Given the description of an element on the screen output the (x, y) to click on. 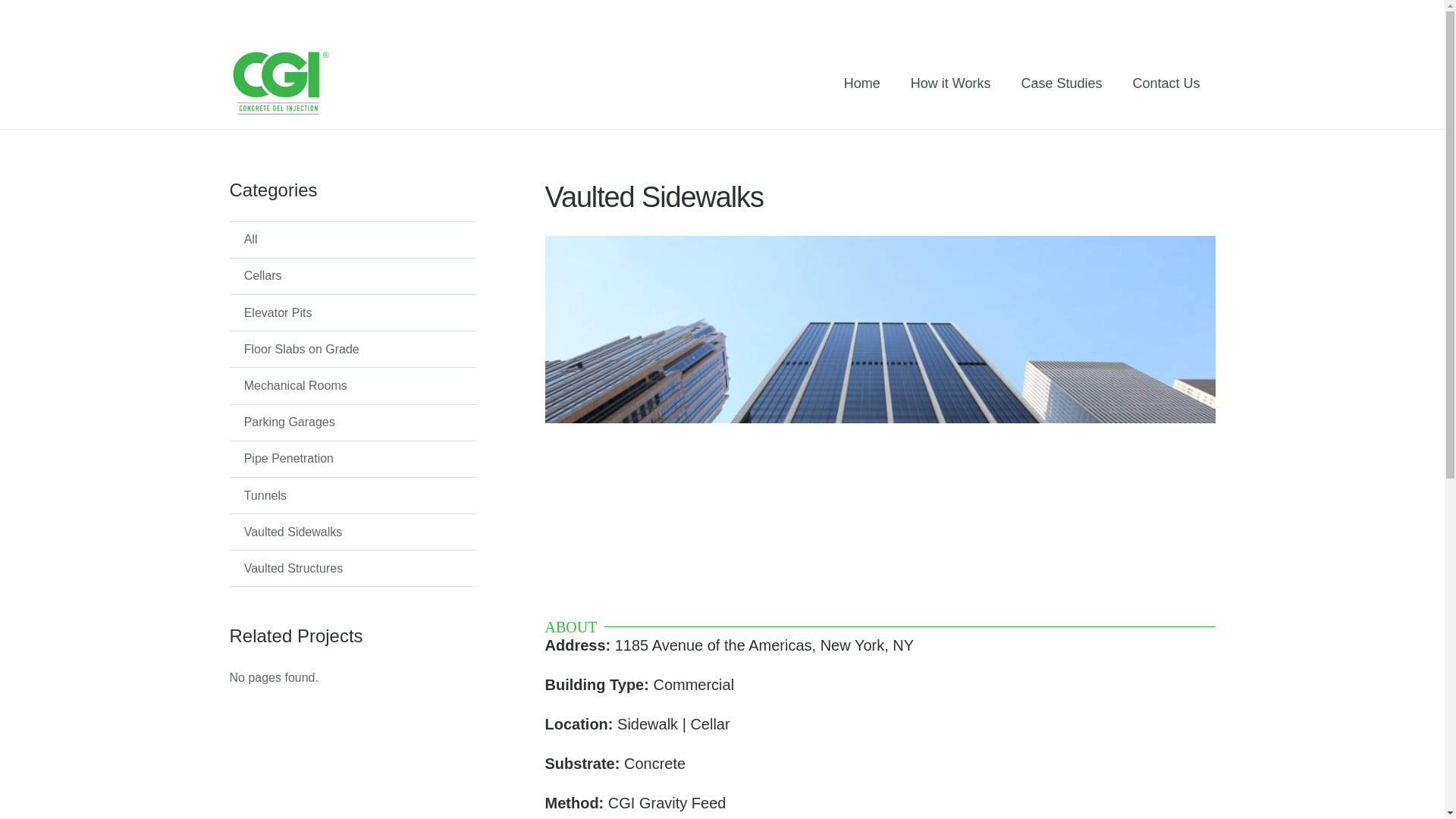
Pipe Penetration (352, 458)
All (352, 239)
Cellars (352, 275)
Mechanical Rooms (352, 384)
Elevator Pits (352, 312)
Vaulted Sidewalks (352, 531)
Parking Garages (352, 422)
Contact Us (1165, 82)
Vaulted Structures (352, 567)
Tunnels (352, 494)
